Given the description of an element on the screen output the (x, y) to click on. 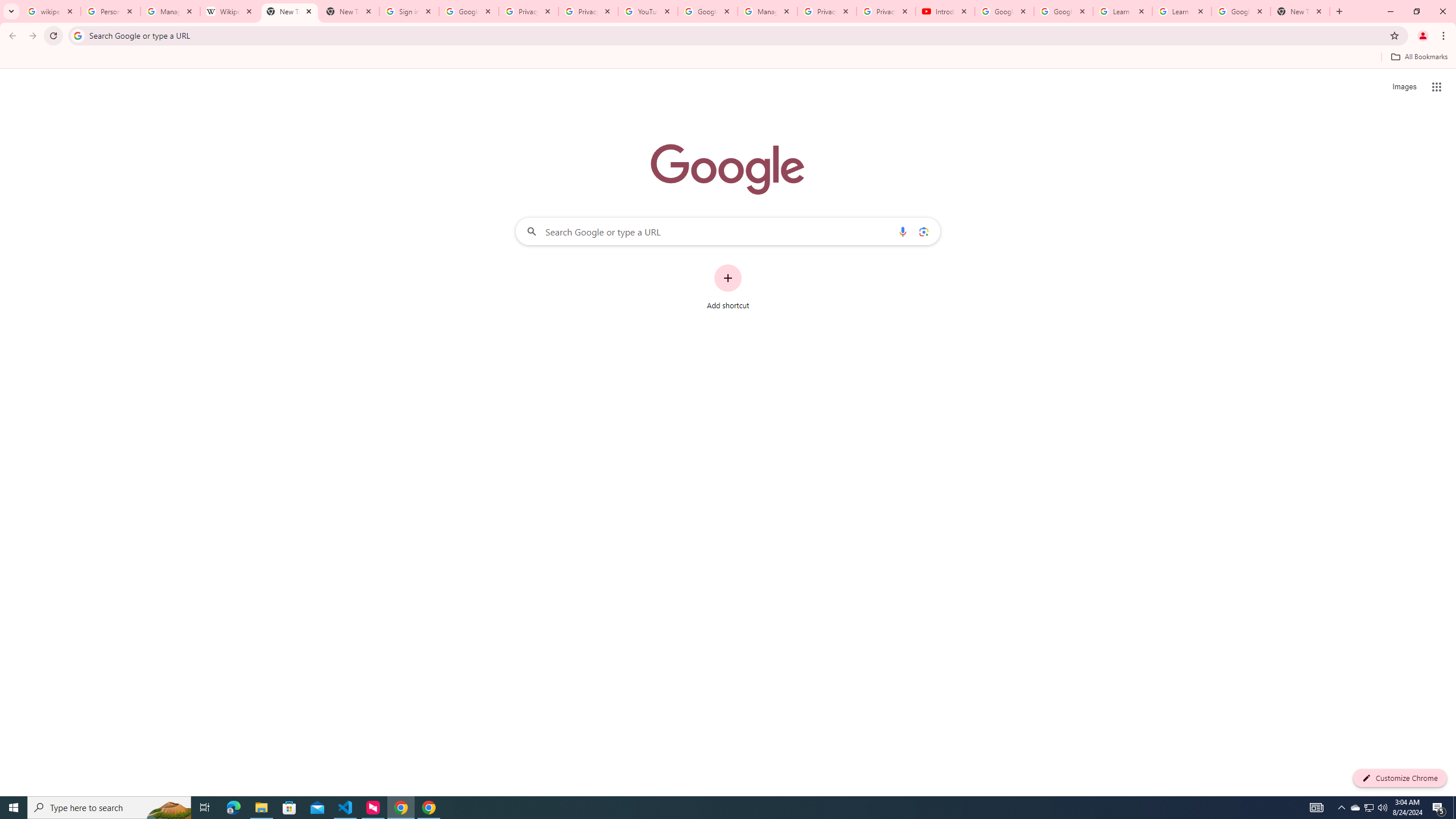
Sign in - Google Accounts (409, 11)
New Tab (1300, 11)
Personalization & Google Search results - Google Search Help (110, 11)
Google Account (1241, 11)
